Given the description of an element on the screen output the (x, y) to click on. 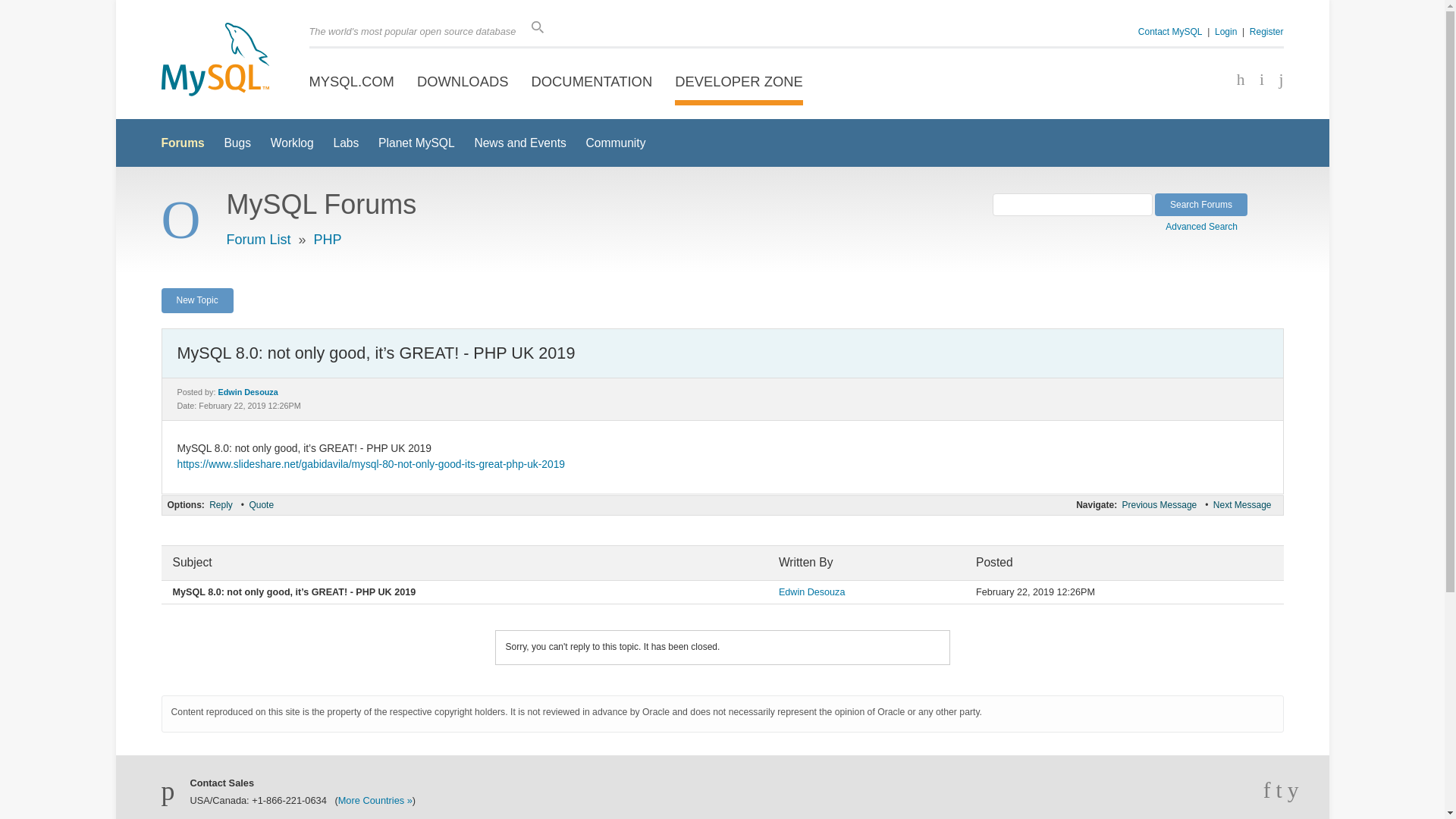
Advanced Search (1206, 224)
Login (1225, 31)
PHP (328, 239)
Visit our YouTube channel (1276, 80)
Community (616, 142)
Worklog (292, 142)
Contact MySQL (1170, 31)
Edwin Desouza (248, 391)
DEVELOPER ZONE (739, 81)
News and Events (520, 142)
Labs (346, 142)
Edwin Desouza (811, 592)
Forums (181, 142)
MYSQL.COM (351, 81)
DOCUMENTATION (591, 81)
